Given the description of an element on the screen output the (x, y) to click on. 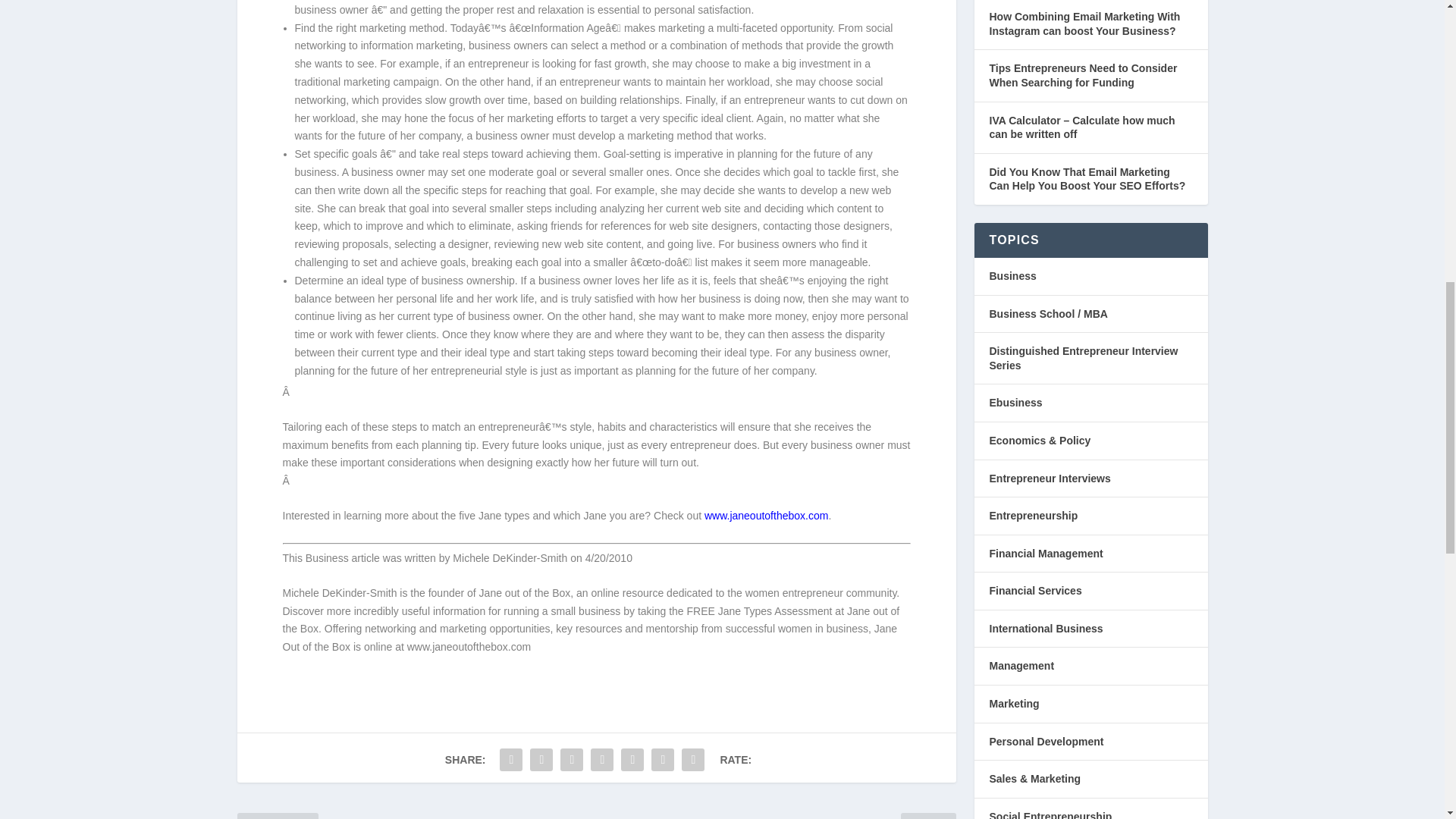
Share "Best of the Janes: Planning for the Future" via Print (692, 759)
Share "Best of the Janes: Planning for the Future" via Email (662, 759)
www.janeoutofthebox.com (766, 515)
